Given the description of an element on the screen output the (x, y) to click on. 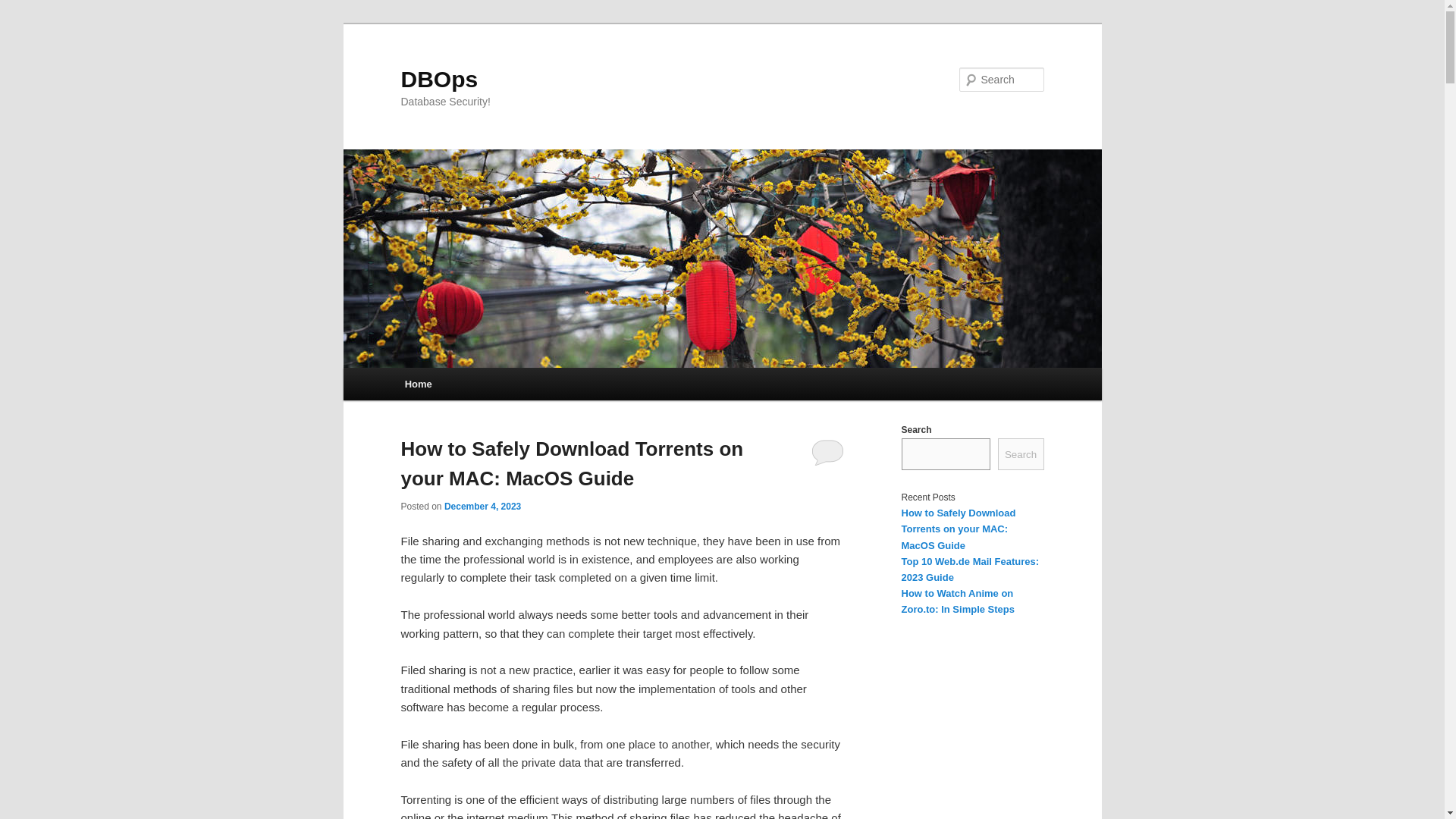
How to Watch Anime on Zoro.to: In Simple Steps (957, 601)
Home (418, 383)
December 4, 2023 (482, 506)
DBOps (438, 78)
How to Safely Download Torrents on your MAC: MacOS Guide (571, 463)
Search (24, 8)
Top 10 Web.de Mail Features: 2023 Guide (970, 569)
How to Safely Download Torrents on your MAC: MacOS Guide (957, 528)
Search (1020, 454)
3:45 pm (482, 506)
